Given the description of an element on the screen output the (x, y) to click on. 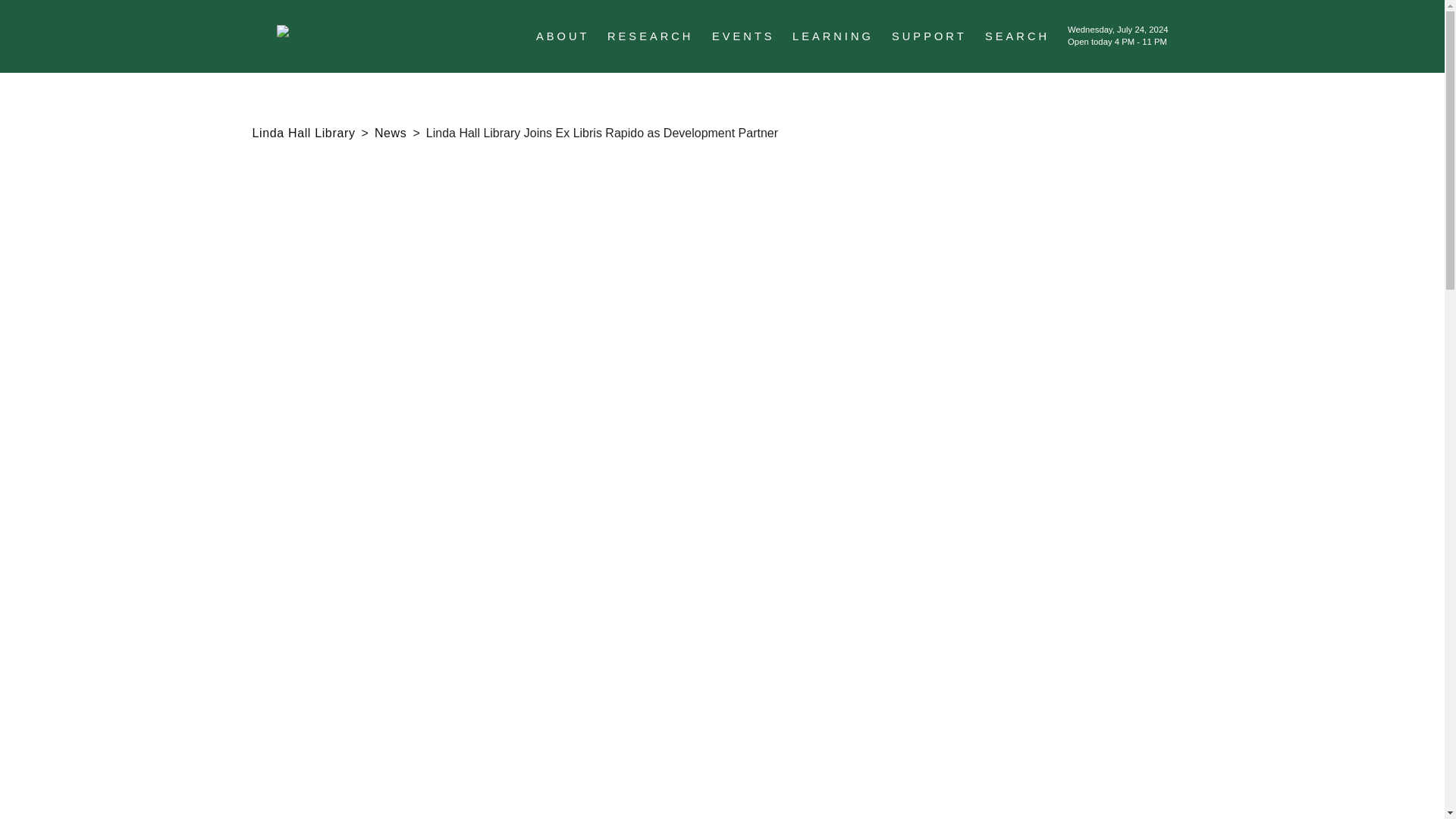
EVENTS (742, 36)
LEARNING (832, 36)
RESEARCH (650, 36)
ABOUT (562, 36)
